Given the description of an element on the screen output the (x, y) to click on. 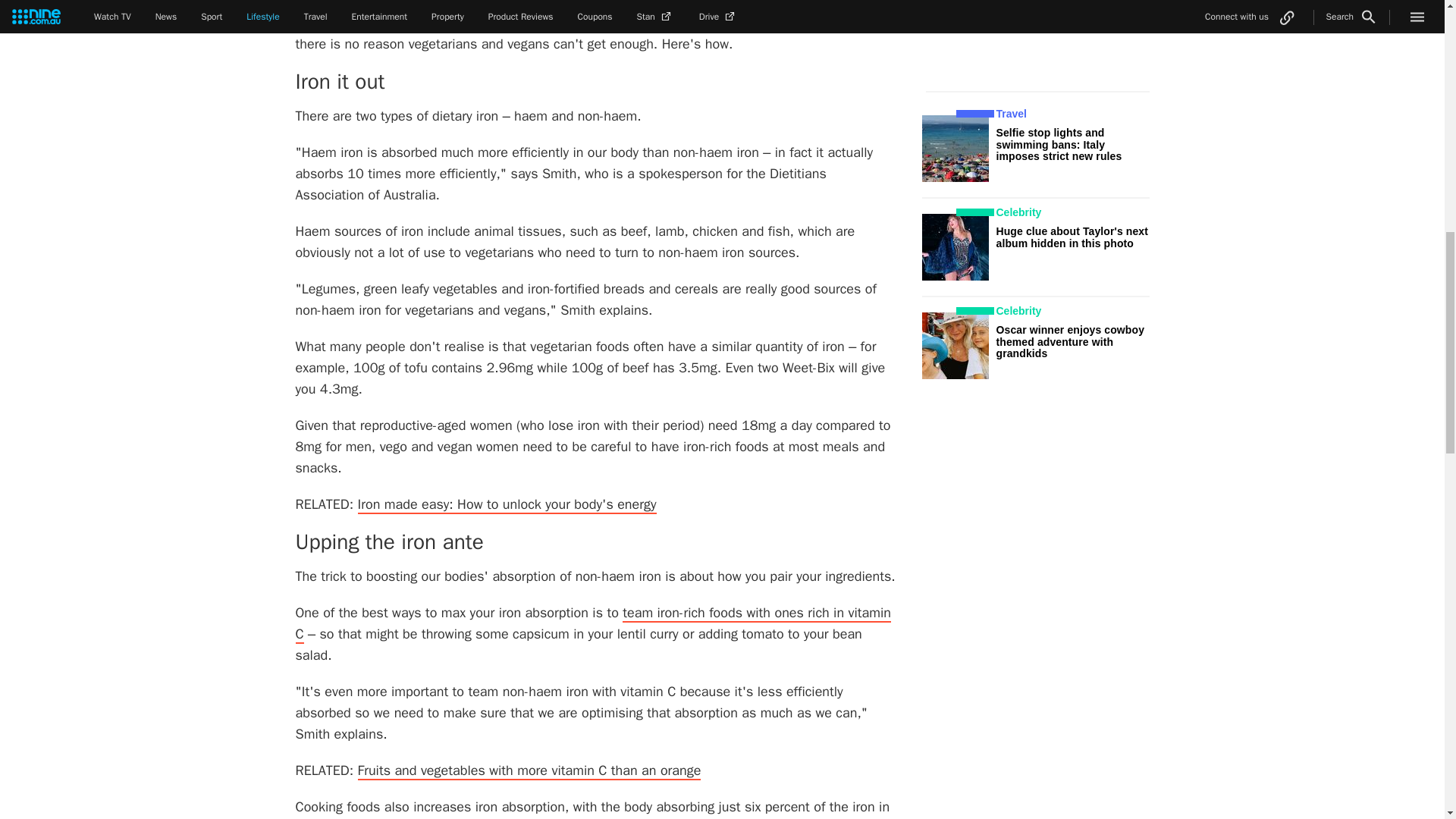
team iron-rich foods with ones rich in vitamin C (593, 623)
Fruits and vegetables with more vitamin C than an orange (529, 771)
Iron made easy: How to unlock your body's energy (507, 505)
